Given the description of an element on the screen output the (x, y) to click on. 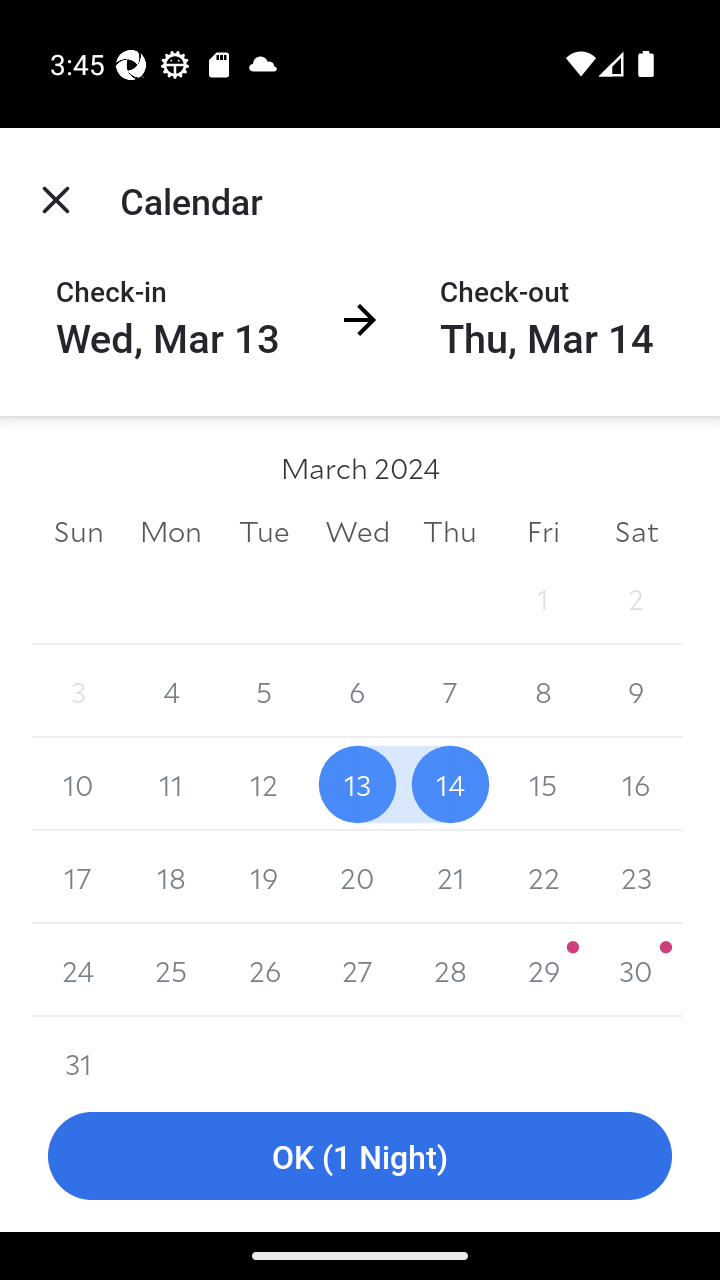
Sun (78, 530)
Mon (171, 530)
Tue (264, 530)
Wed (357, 530)
Thu (449, 530)
Fri (542, 530)
Sat (636, 530)
1 1 March 2024 (542, 598)
2 2 March 2024 (636, 598)
3 3 March 2024 (78, 691)
4 4 March 2024 (171, 691)
5 5 March 2024 (264, 691)
6 6 March 2024 (357, 691)
7 7 March 2024 (449, 691)
8 8 March 2024 (542, 691)
9 9 March 2024 (636, 691)
10 10 March 2024 (78, 784)
11 11 March 2024 (171, 784)
12 12 March 2024 (264, 784)
13 13 March 2024 (357, 784)
14 14 March 2024 (449, 784)
15 15 March 2024 (542, 784)
16 16 March 2024 (636, 784)
17 17 March 2024 (78, 877)
18 18 March 2024 (171, 877)
19 19 March 2024 (264, 877)
20 20 March 2024 (357, 877)
21 21 March 2024 (449, 877)
22 22 March 2024 (542, 877)
23 23 March 2024 (636, 877)
24 24 March 2024 (78, 970)
25 25 March 2024 (171, 970)
26 26 March 2024 (264, 970)
27 27 March 2024 (357, 970)
28 28 March 2024 (449, 970)
29 29 March 2024 (542, 970)
30 30 March 2024 (636, 970)
31 31 March 2024 (78, 1048)
OK (1 Night) (359, 1156)
